Given the description of an element on the screen output the (x, y) to click on. 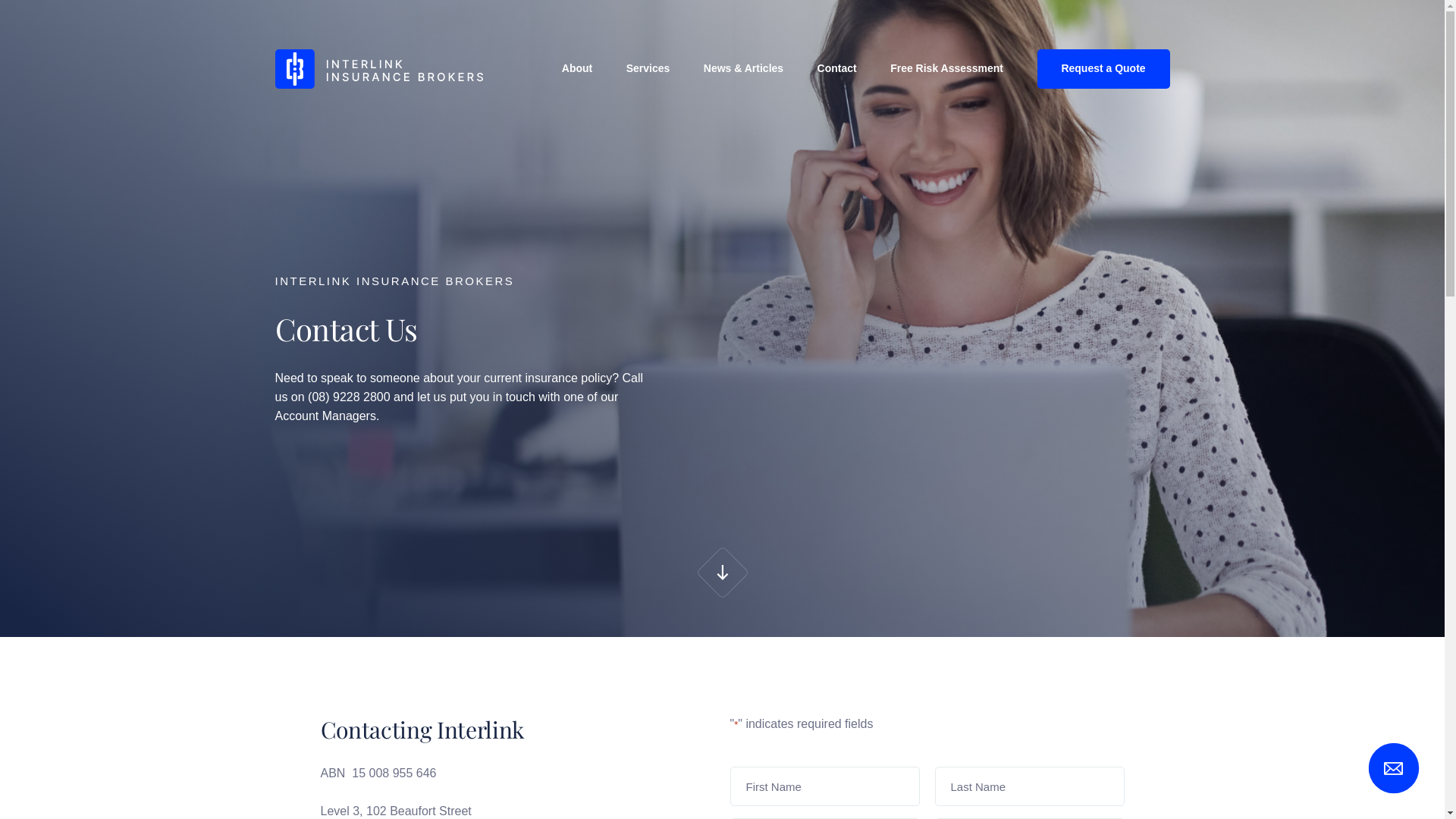
Free Risk Assessment Element type: text (946, 67)
Contact Element type: text (836, 67)
Request a Quote Element type: text (1103, 68)
Open Contact Form Element type: text (1396, 771)
News & Articles Element type: text (743, 67)
Services Element type: text (648, 67)
About Element type: text (576, 67)
Interlink Insurance Brokers Element type: text (378, 68)
